Given the description of an element on the screen output the (x, y) to click on. 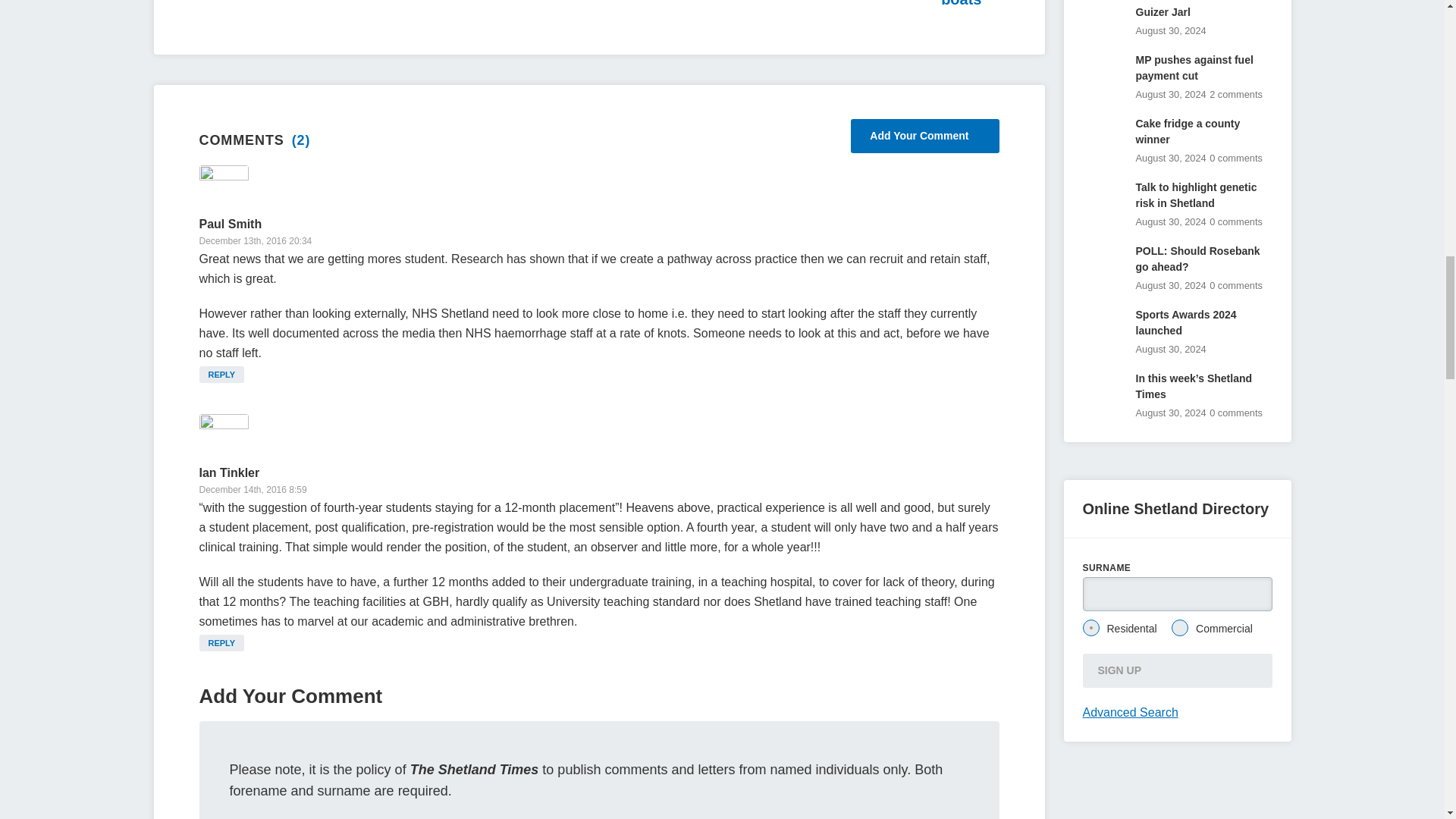
Paul Smith (230, 223)
commercial (1180, 627)
Ian Tinkler (228, 472)
Quota changes broadly good news for whitefish boats (806, 4)
REPLY (221, 374)
Add Your Comment (924, 135)
residential (1091, 627)
REPLY (221, 642)
